Given the description of an element on the screen output the (x, y) to click on. 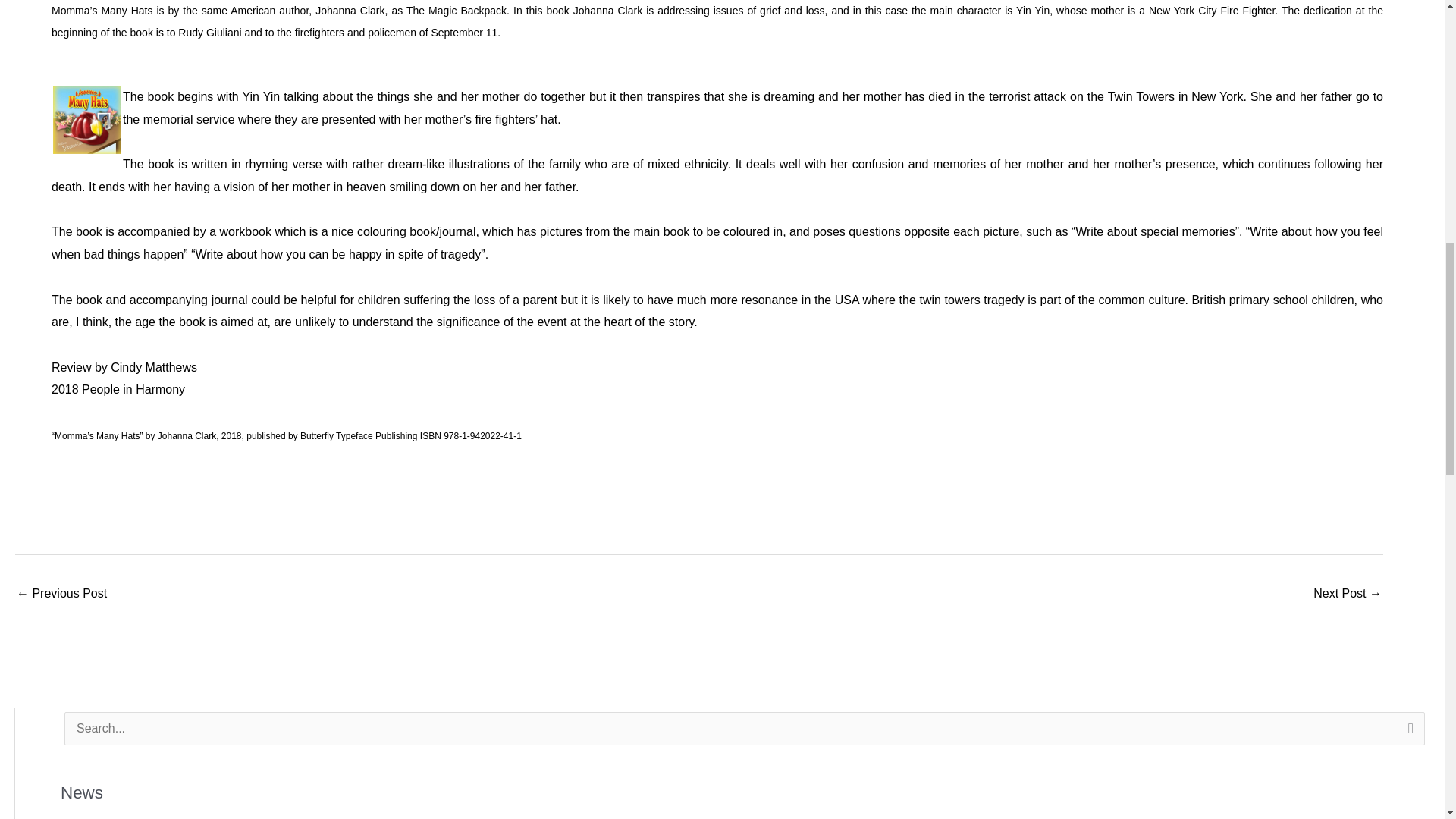
Search (1407, 732)
PIH Volunteer Opportunities (61, 594)
Search (1407, 732)
Book Review: "The Magic Backpack" (1347, 594)
Search (1407, 732)
